Given the description of an element on the screen output the (x, y) to click on. 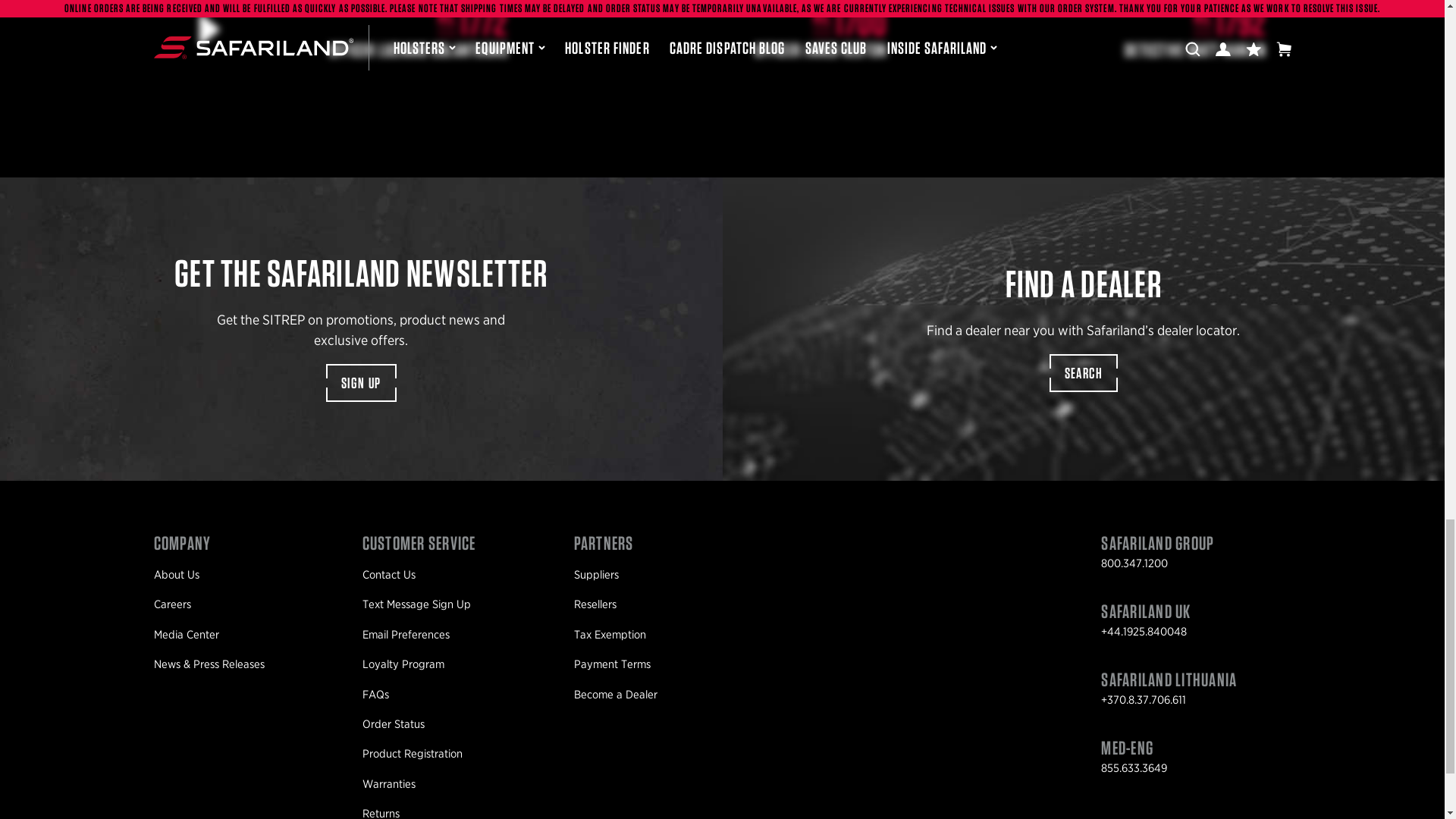
tel:800.347.1200 (1133, 563)
Safariland UK (1145, 613)
tel:855.633.3649 (1133, 767)
